Given the description of an element on the screen output the (x, y) to click on. 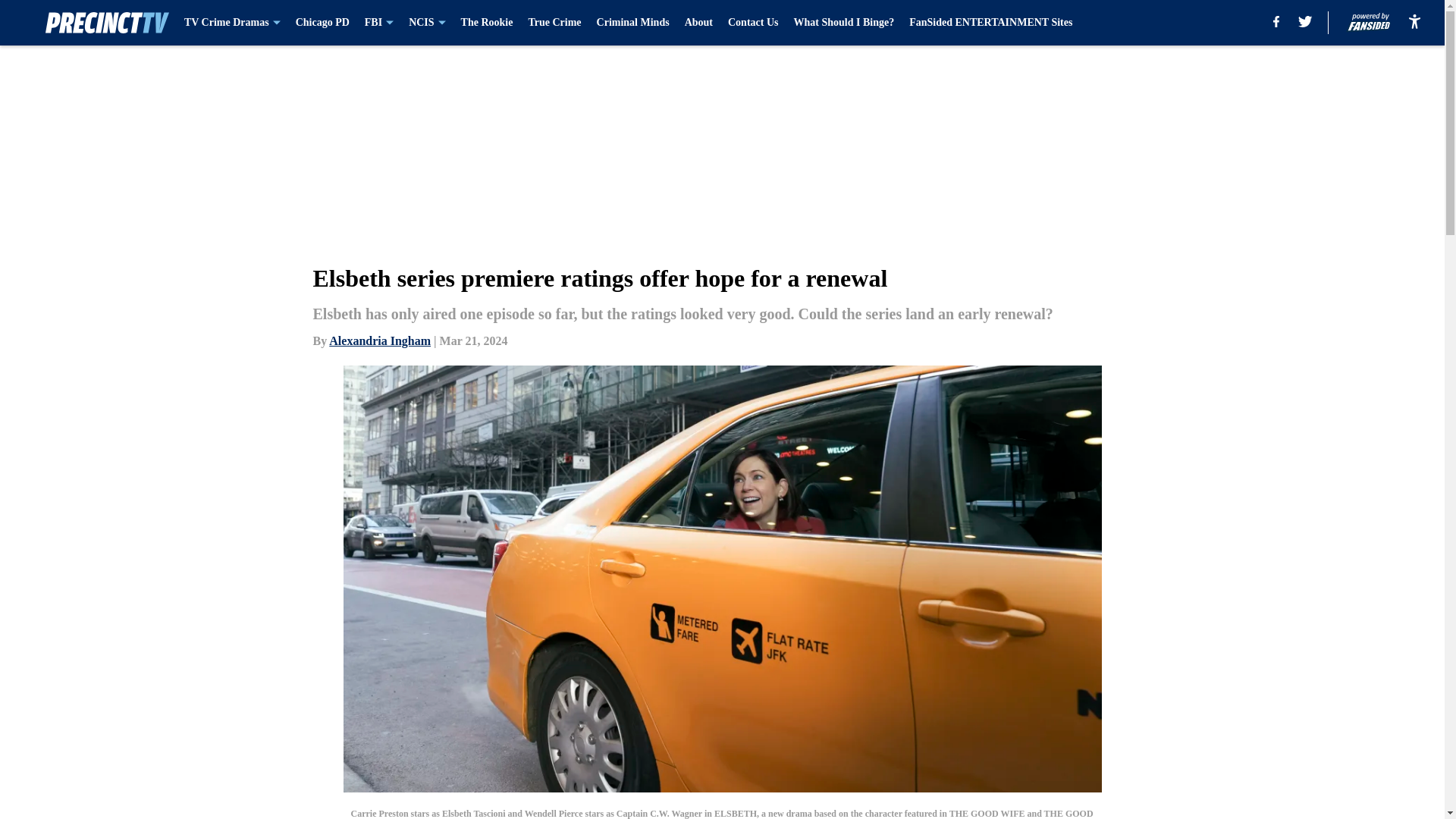
Criminal Minds (632, 22)
What Should I Binge? (843, 22)
Alexandria Ingham (379, 340)
FanSided ENTERTAINMENT Sites (989, 22)
About (698, 22)
Contact Us (753, 22)
True Crime (553, 22)
The Rookie (487, 22)
Chicago PD (322, 22)
